Given the description of an element on the screen output the (x, y) to click on. 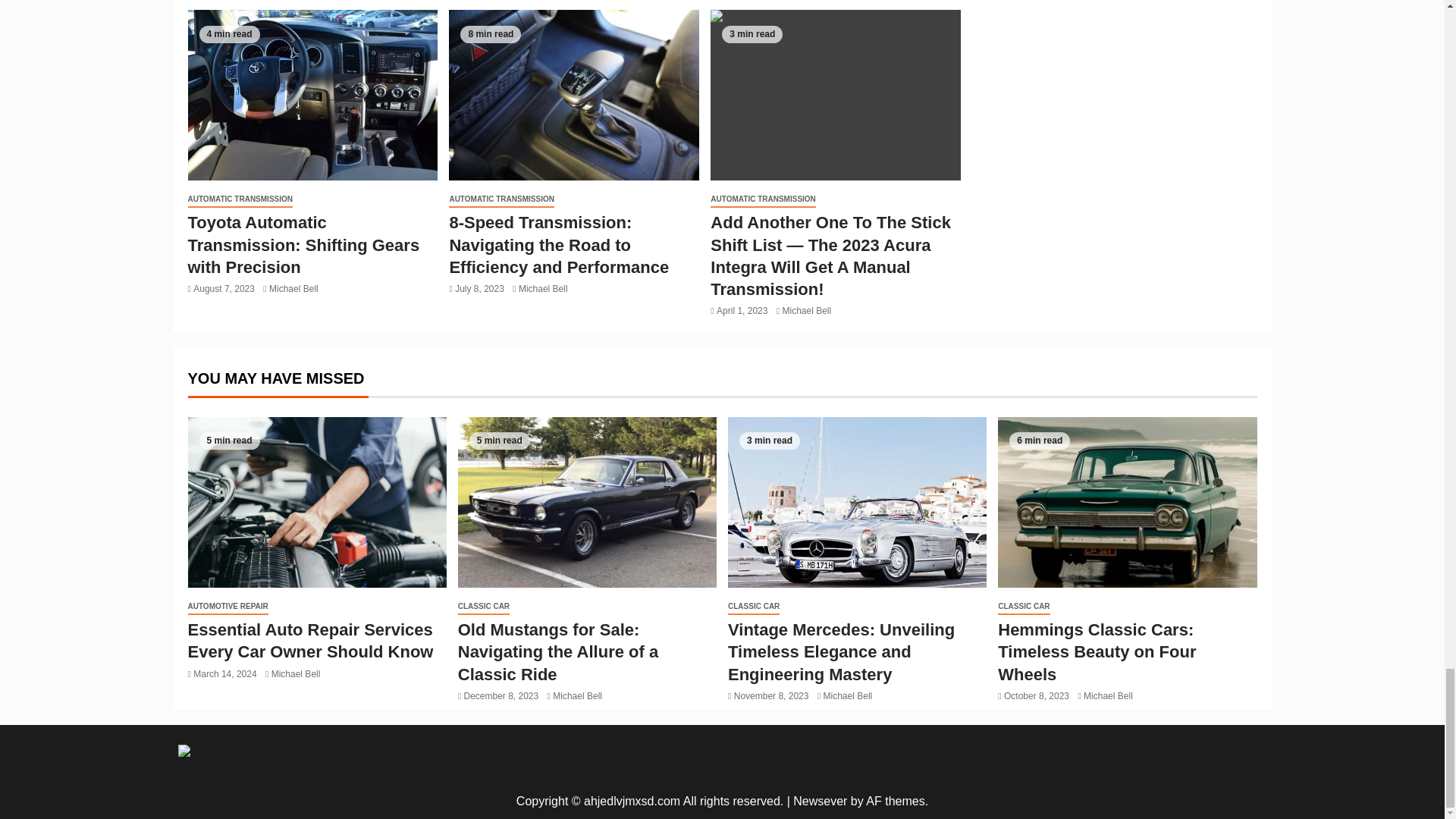
Toyota Automatic Transmission: Shifting Gears with Precision (312, 94)
